Given the description of an element on the screen output the (x, y) to click on. 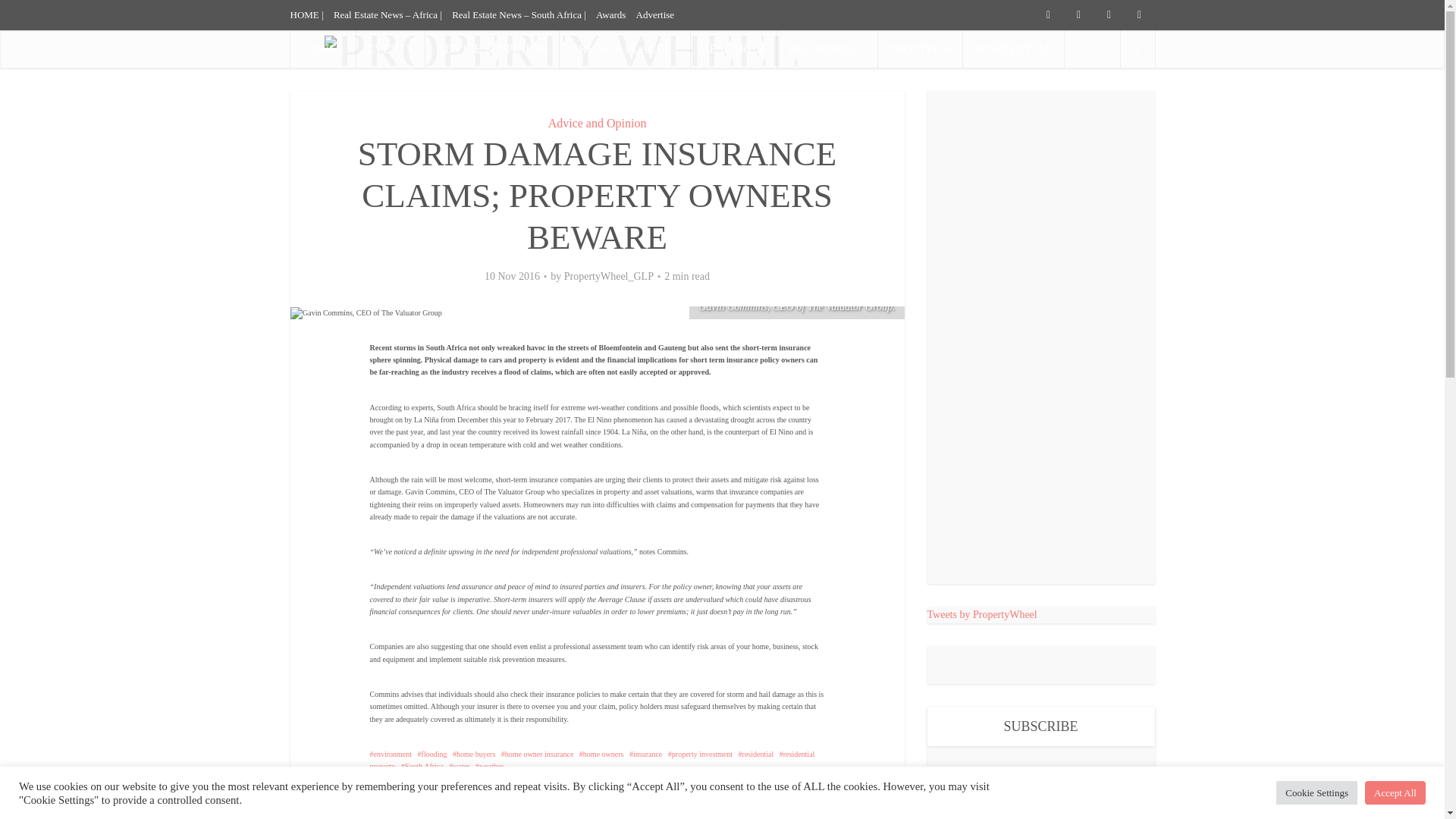
RESIDENTIAL (1013, 48)
RESOURCES (826, 48)
Advertise (655, 14)
Awards (610, 14)
RESEARCH (733, 48)
PROPTECH (919, 48)
NEWS (322, 48)
EVENTS (390, 48)
